Given the description of an element on the screen output the (x, y) to click on. 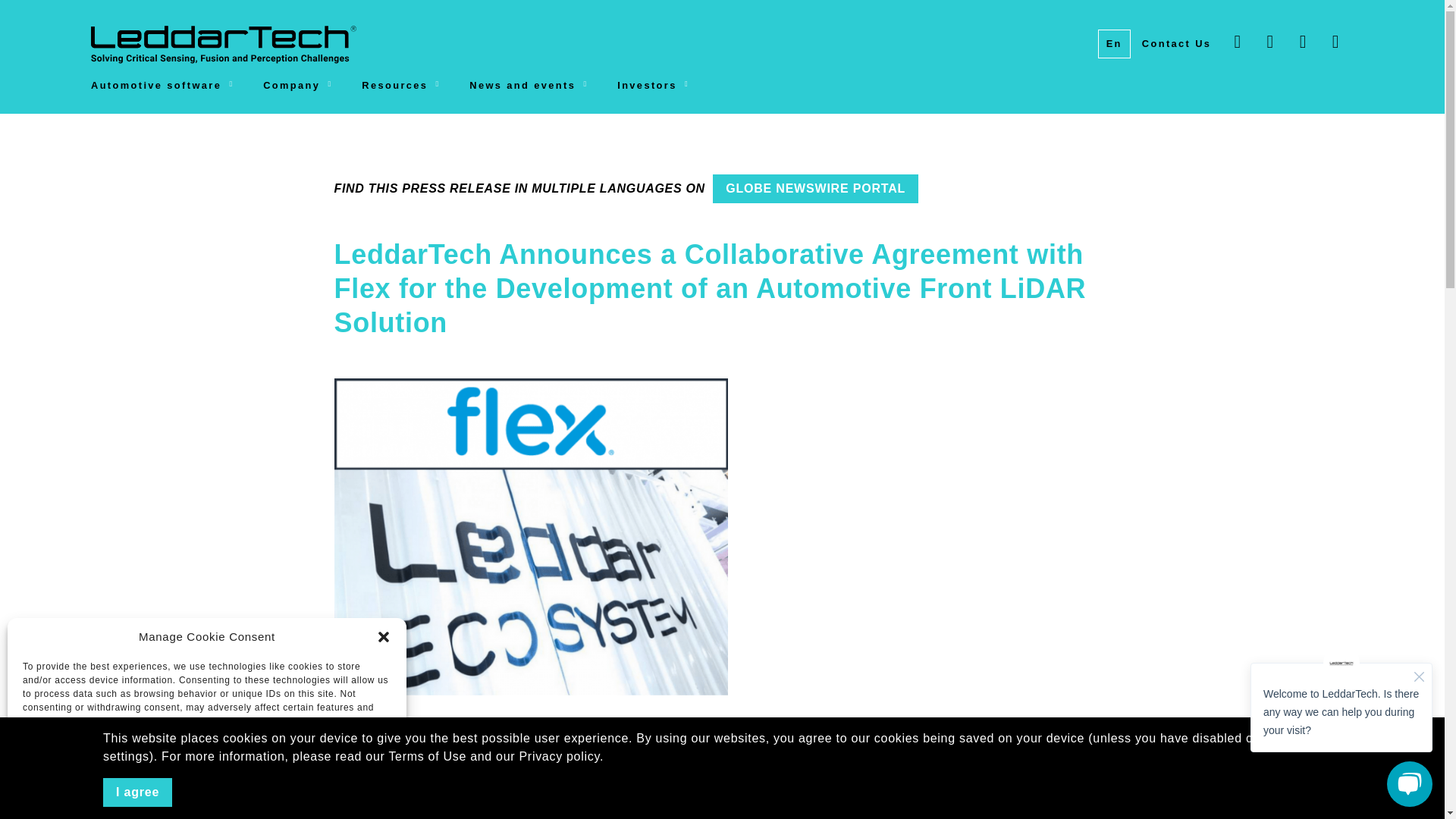
Automotive software (176, 88)
Contact Us (1177, 43)
View preferences (332, 763)
Privacy Policy (210, 794)
Accept (81, 763)
Deny (206, 763)
En (1114, 43)
En (1114, 43)
